Given the description of an element on the screen output the (x, y) to click on. 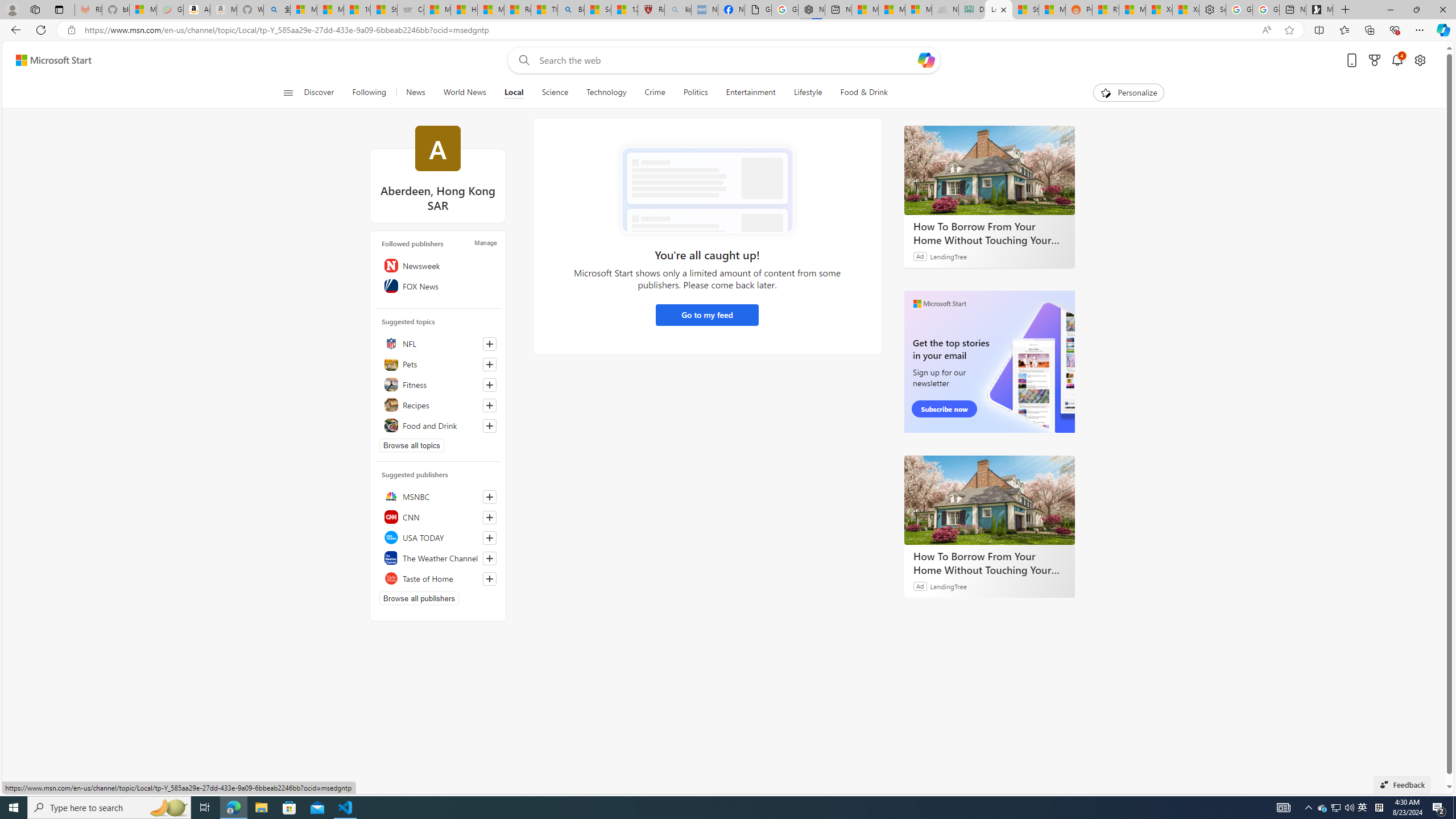
Food and Drink (437, 425)
USA TODAY (437, 537)
